Given the description of an element on the screen output the (x, y) to click on. 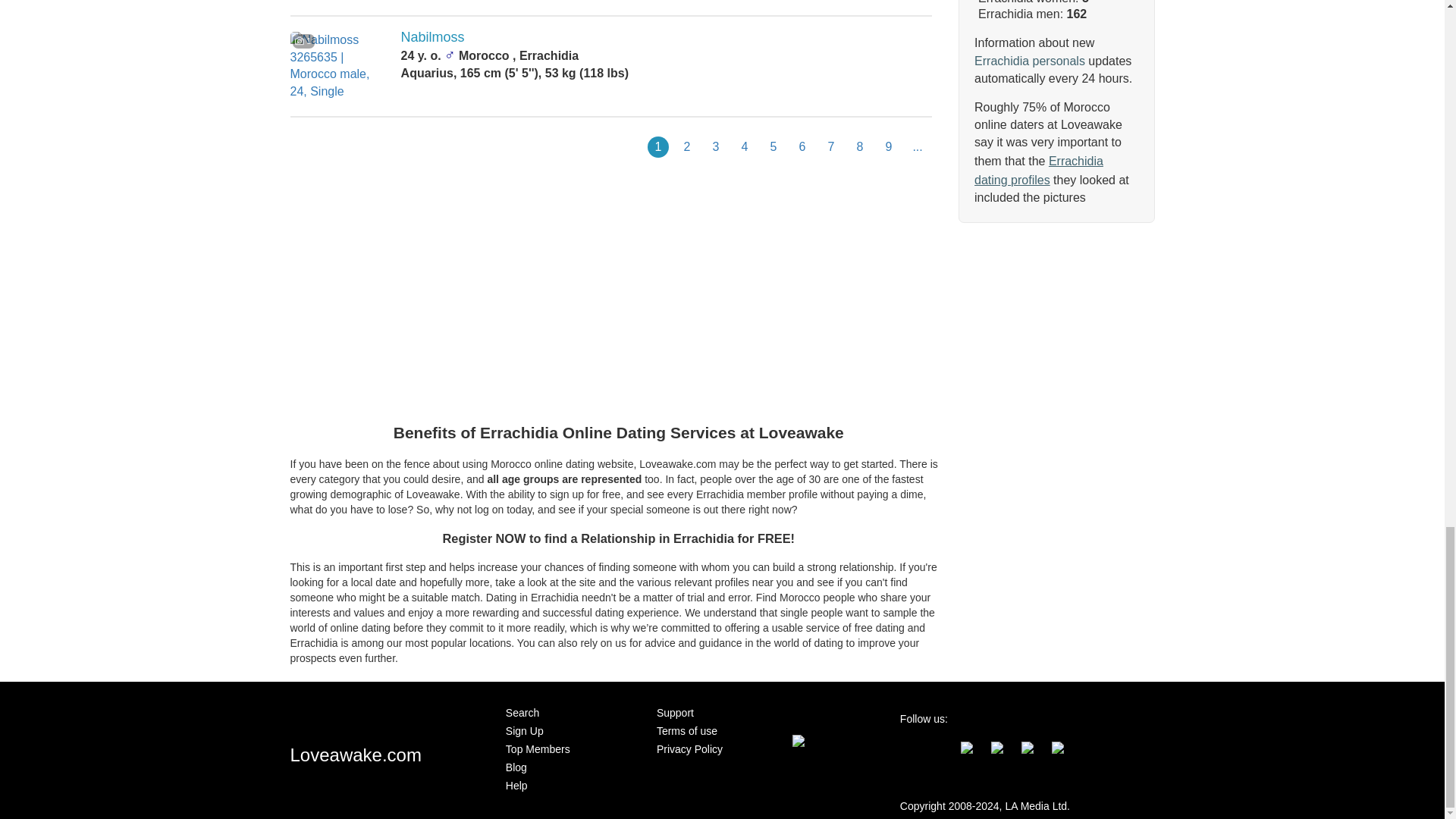
Nabilmoss (432, 37)
